Given the description of an element on the screen output the (x, y) to click on. 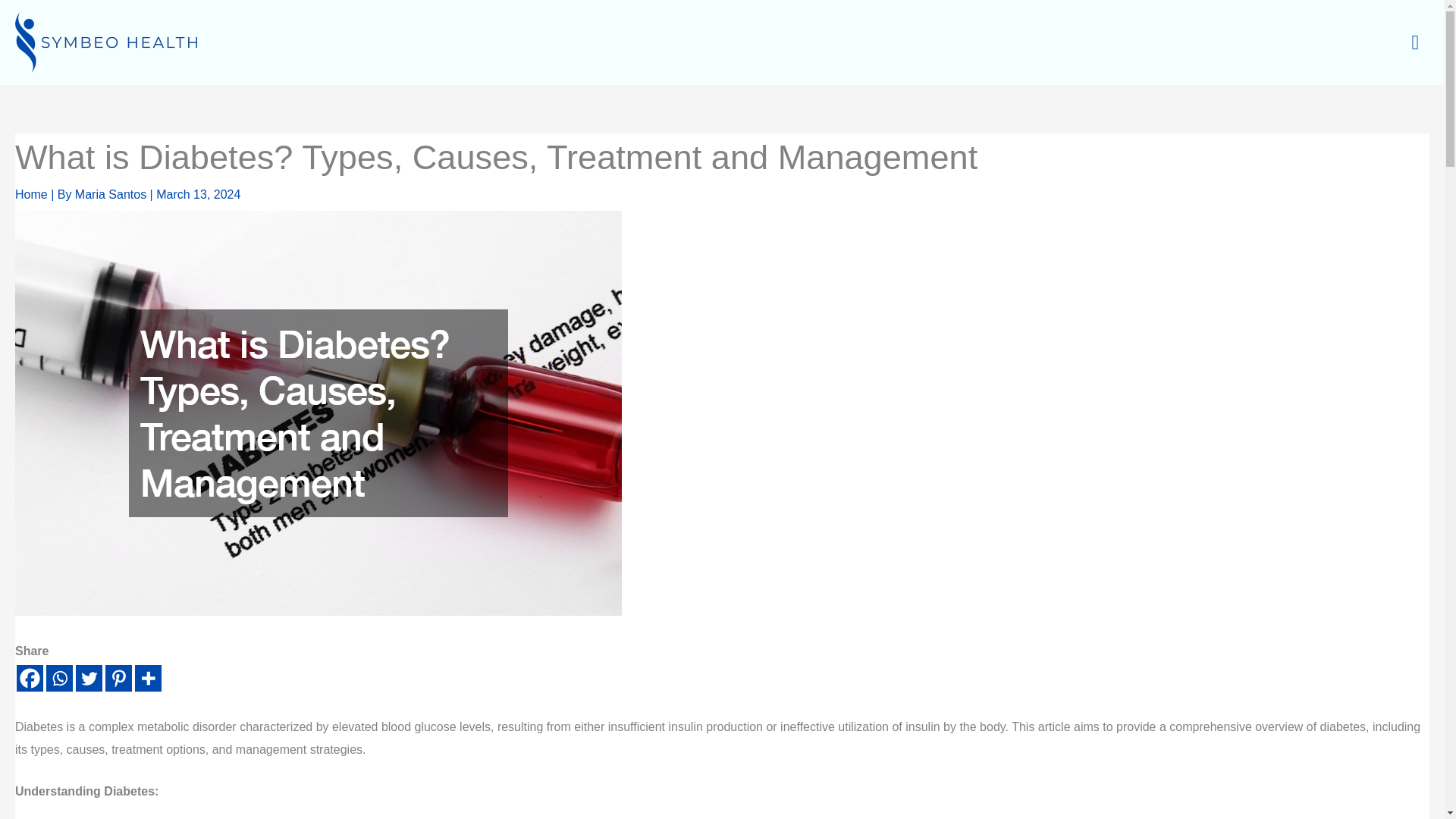
Pinterest (118, 678)
View all posts by Maria Santos (112, 194)
Whatsapp (59, 678)
Home (31, 194)
Maria Santos (112, 194)
Facebook (29, 678)
Twitter (88, 678)
More (148, 678)
